Given the description of an element on the screen output the (x, y) to click on. 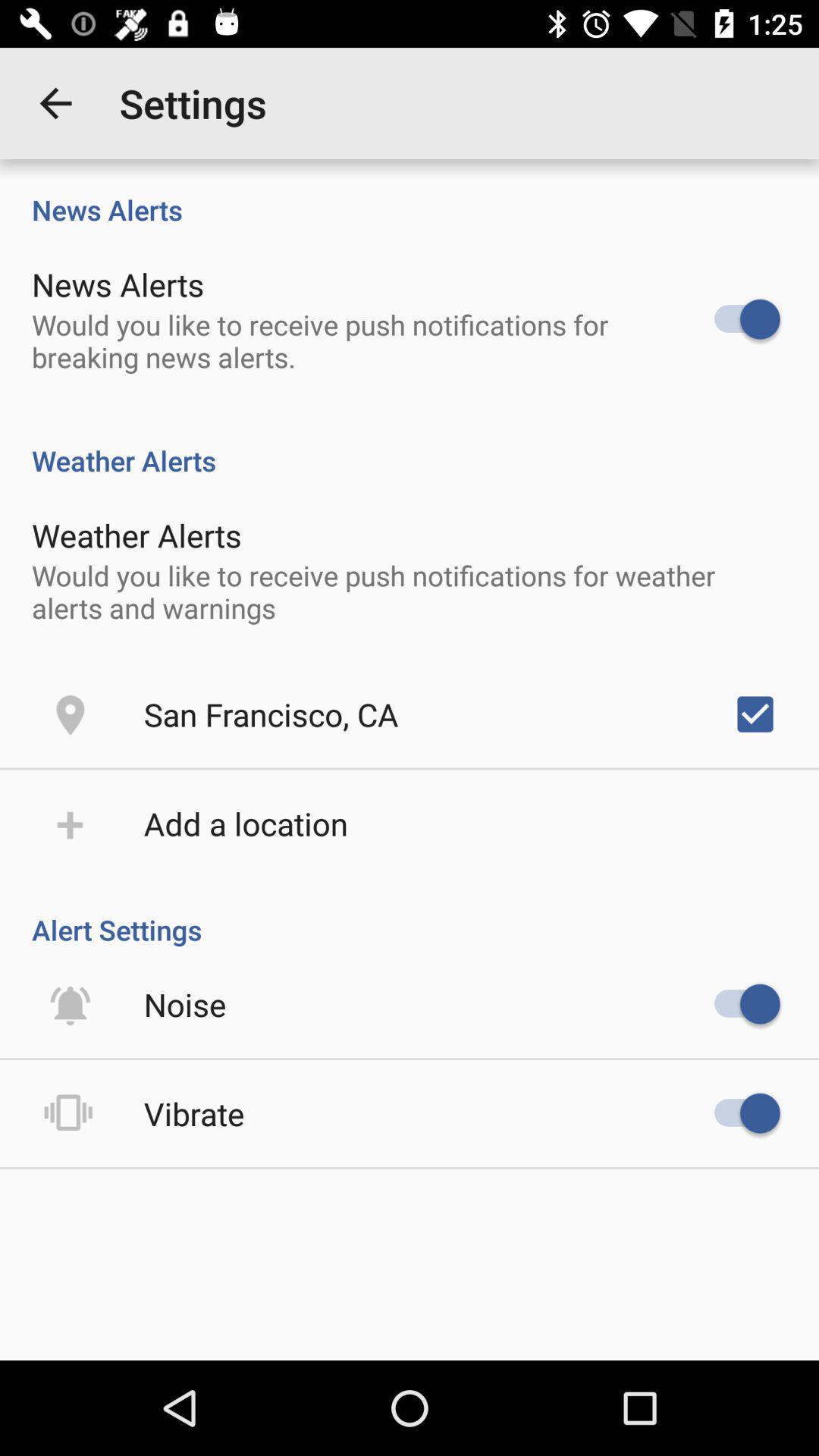
press icon above the news alerts item (55, 103)
